Given the description of an element on the screen output the (x, y) to click on. 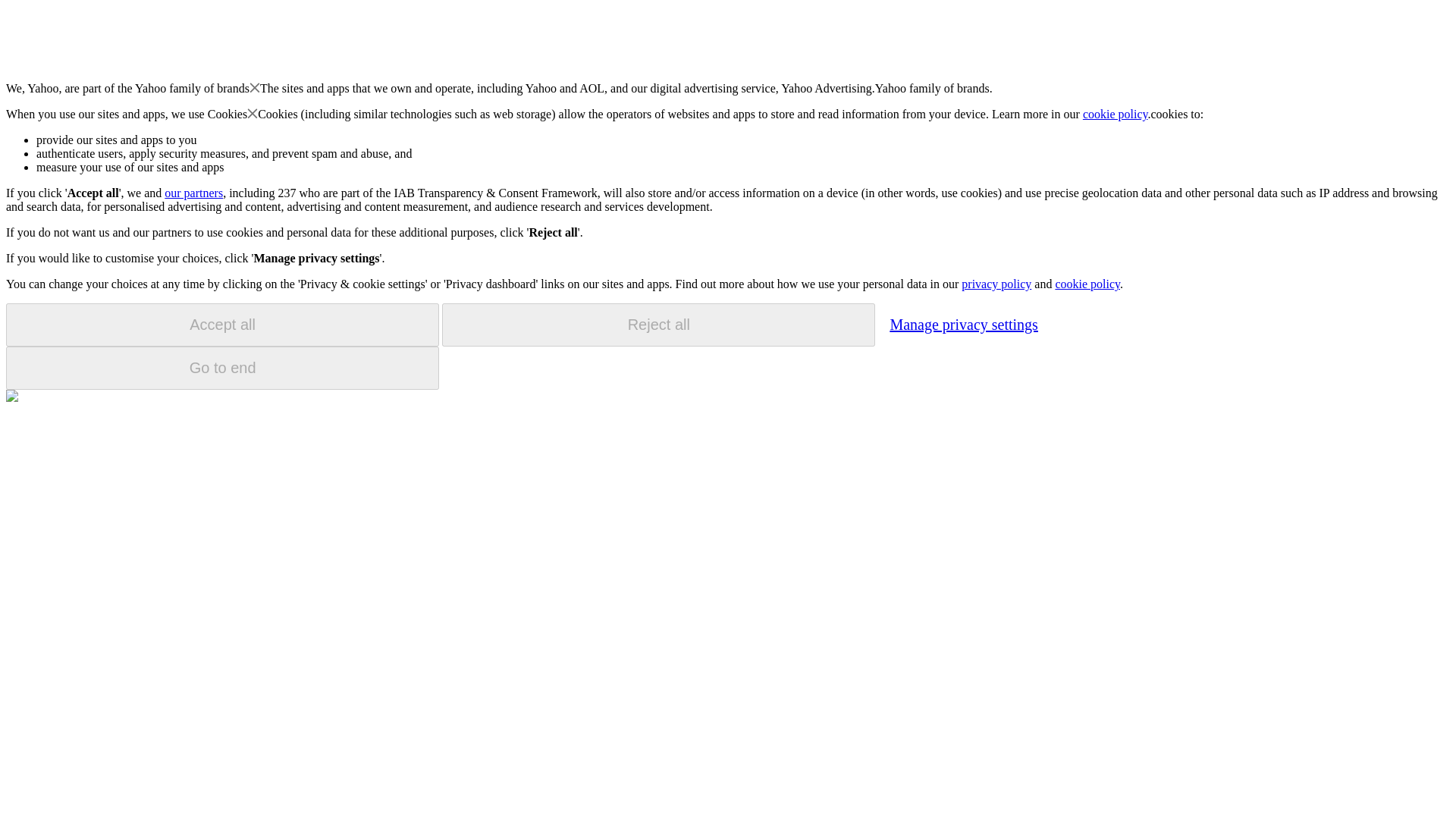
our partners (193, 192)
Accept all (222, 324)
cookie policy (1115, 113)
Go to end (222, 367)
cookie policy (1086, 283)
Reject all (658, 324)
privacy policy (995, 283)
Manage privacy settings (963, 323)
